Given the description of an element on the screen output the (x, y) to click on. 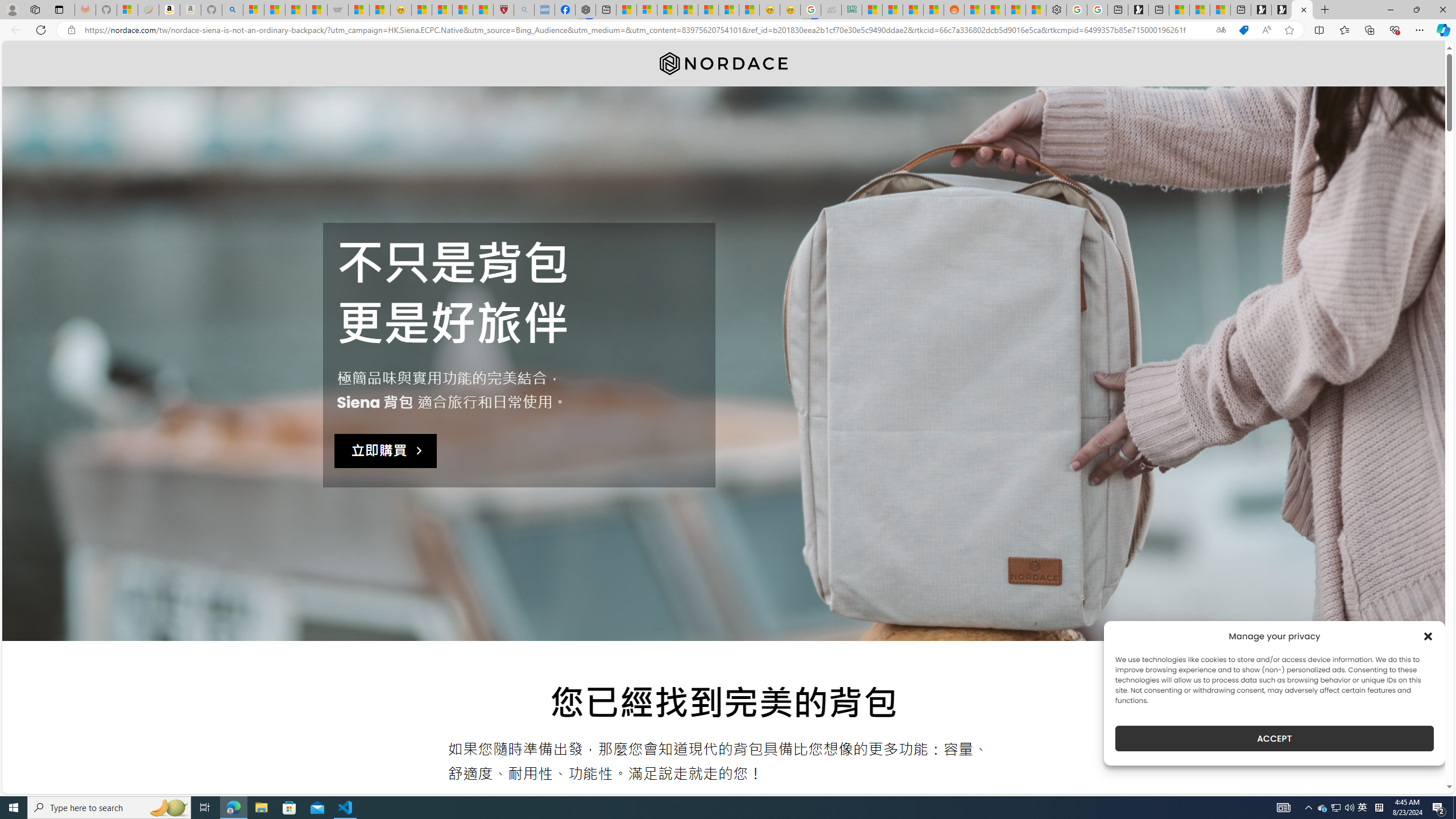
Fitness - MSN (708, 9)
